Given the description of an element on the screen output the (x, y) to click on. 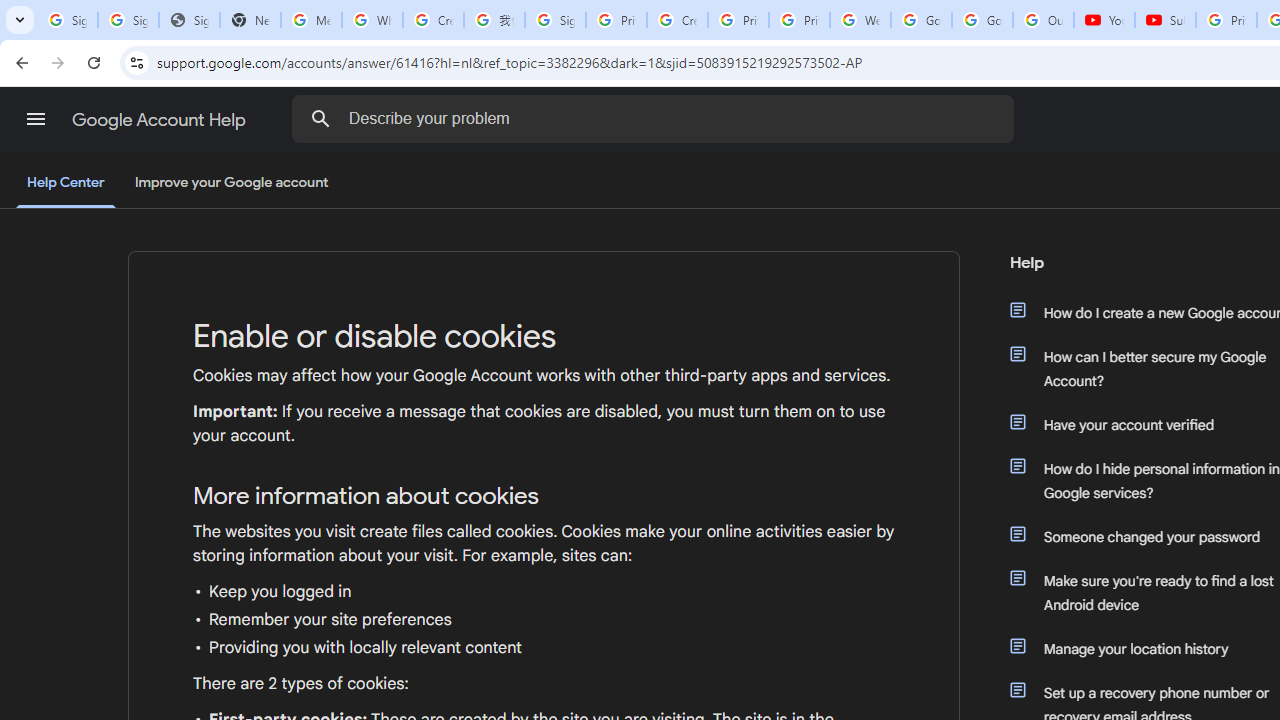
Who is my administrator? - Google Account Help (372, 20)
Describe your problem (655, 118)
Create your Google Account (676, 20)
Sign in - Google Accounts (67, 20)
New Tab (250, 20)
Sign In - USA TODAY (189, 20)
Sign in - Google Accounts (555, 20)
